Given the description of an element on the screen output the (x, y) to click on. 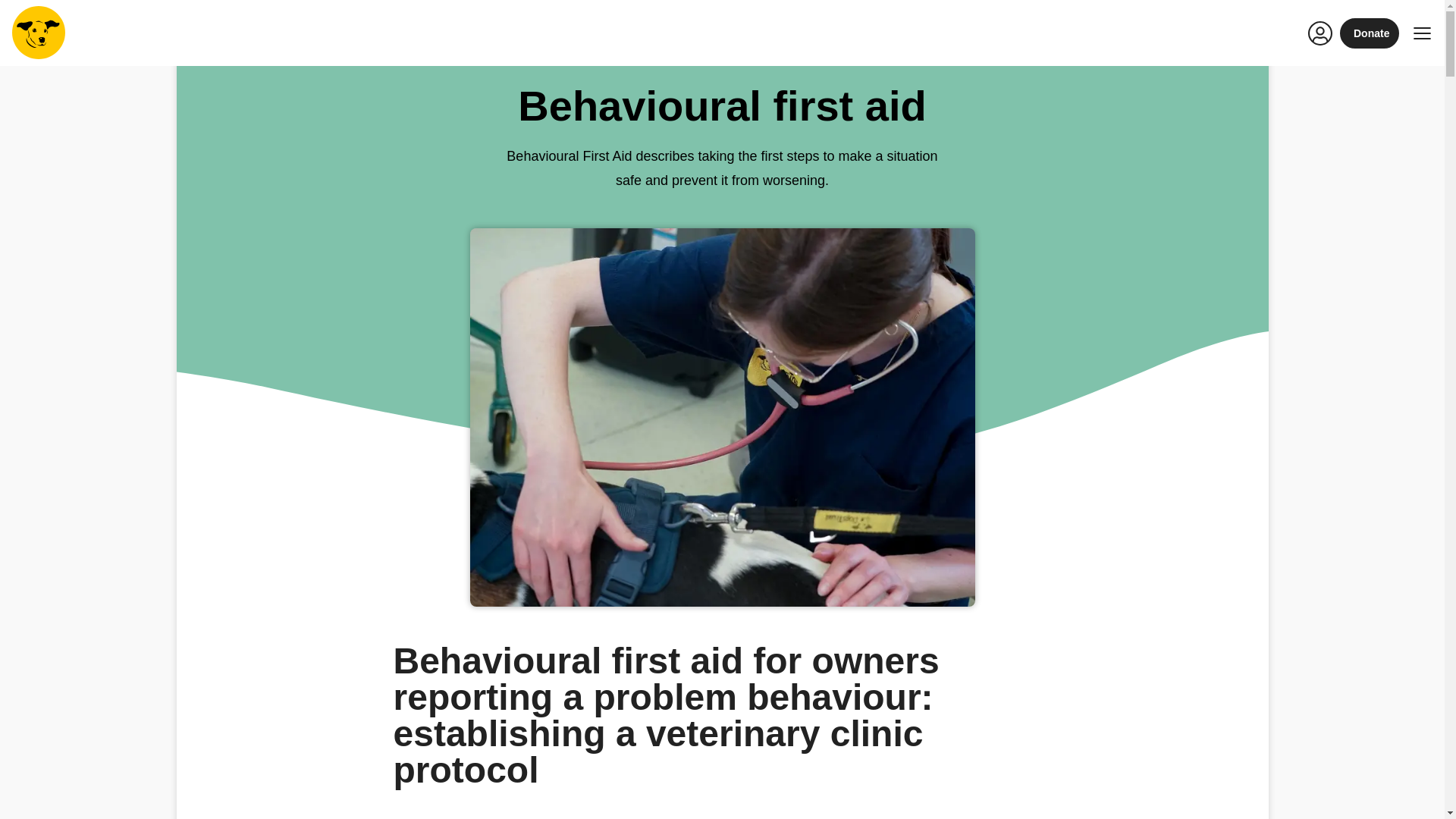
Login (1320, 33)
Donate (1369, 33)
Home (38, 32)
